Given the description of an element on the screen output the (x, y) to click on. 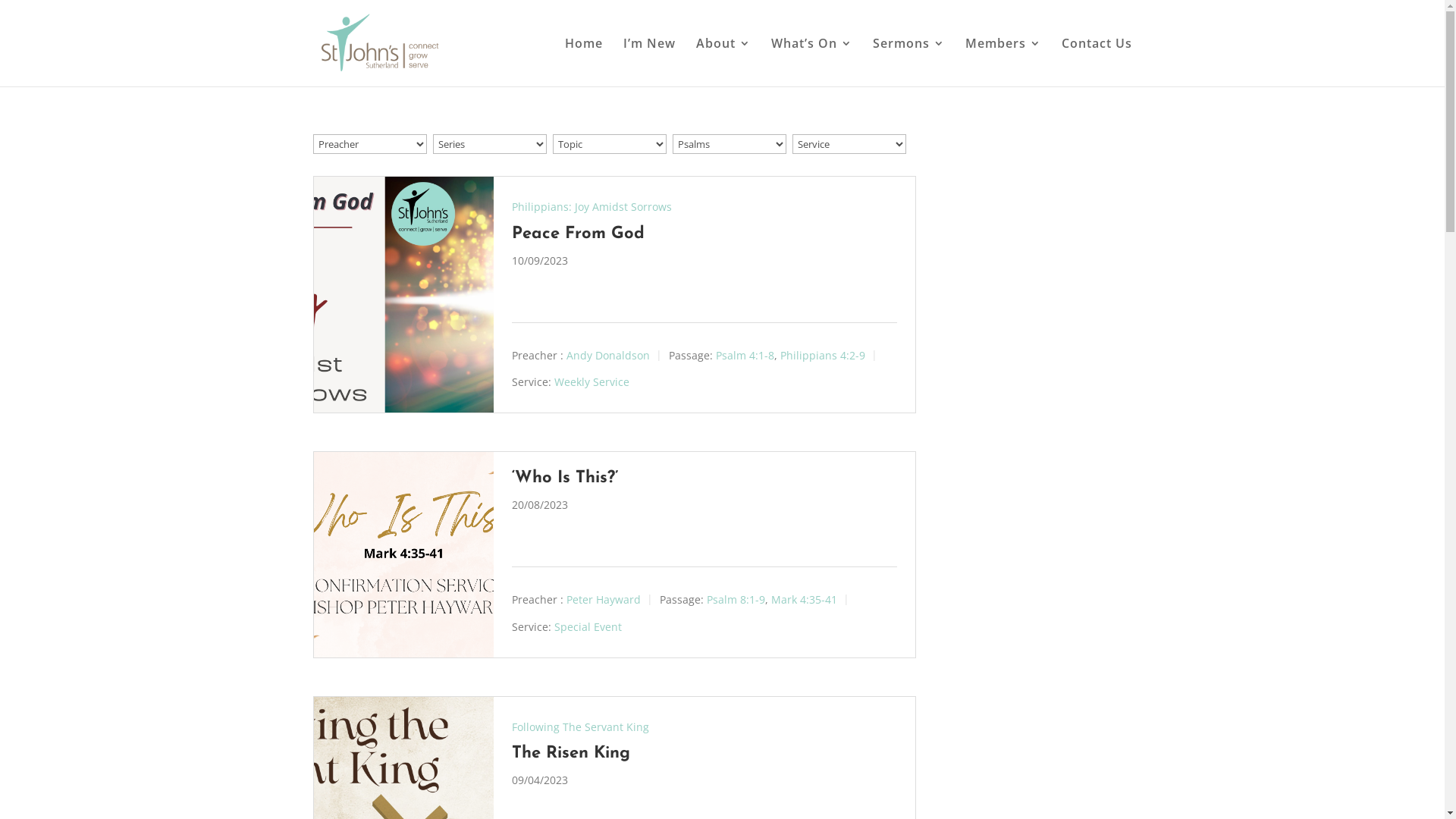
Sermons Element type: text (908, 61)
Philippians: Joy Amidst Sorrows Element type: text (591, 206)
Weekly Service Element type: text (591, 381)
Psalm 4:1-8 Element type: text (744, 355)
Contact Us Element type: text (1096, 61)
Peter Hayward Element type: text (603, 599)
Special Event Element type: text (587, 626)
Andy Donaldson Element type: text (607, 355)
Following The Servant King Element type: text (580, 726)
Philippians 4:2-9 Element type: text (822, 355)
Peace From God Element type: text (577, 233)
About Element type: text (723, 61)
Psalm 8:1-9 Element type: text (735, 599)
Mark 4:35-41 Element type: text (804, 599)
The Risen King Element type: text (570, 753)
Home Element type: text (583, 61)
Members Element type: text (1002, 61)
